Given the description of an element on the screen output the (x, y) to click on. 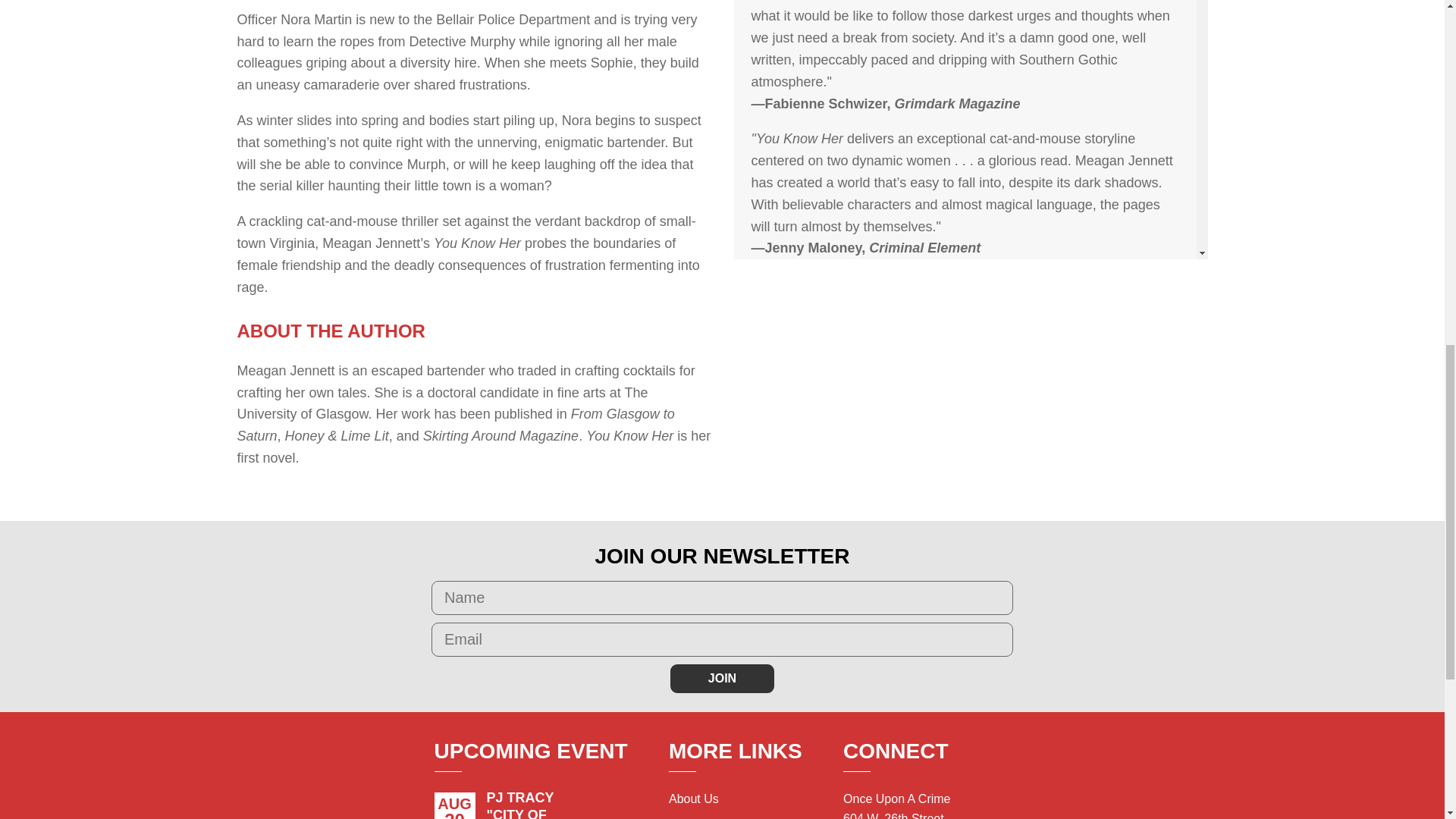
Contact Us (698, 818)
About Us (693, 798)
Join (721, 678)
Join (721, 678)
